Given the description of an element on the screen output the (x, y) to click on. 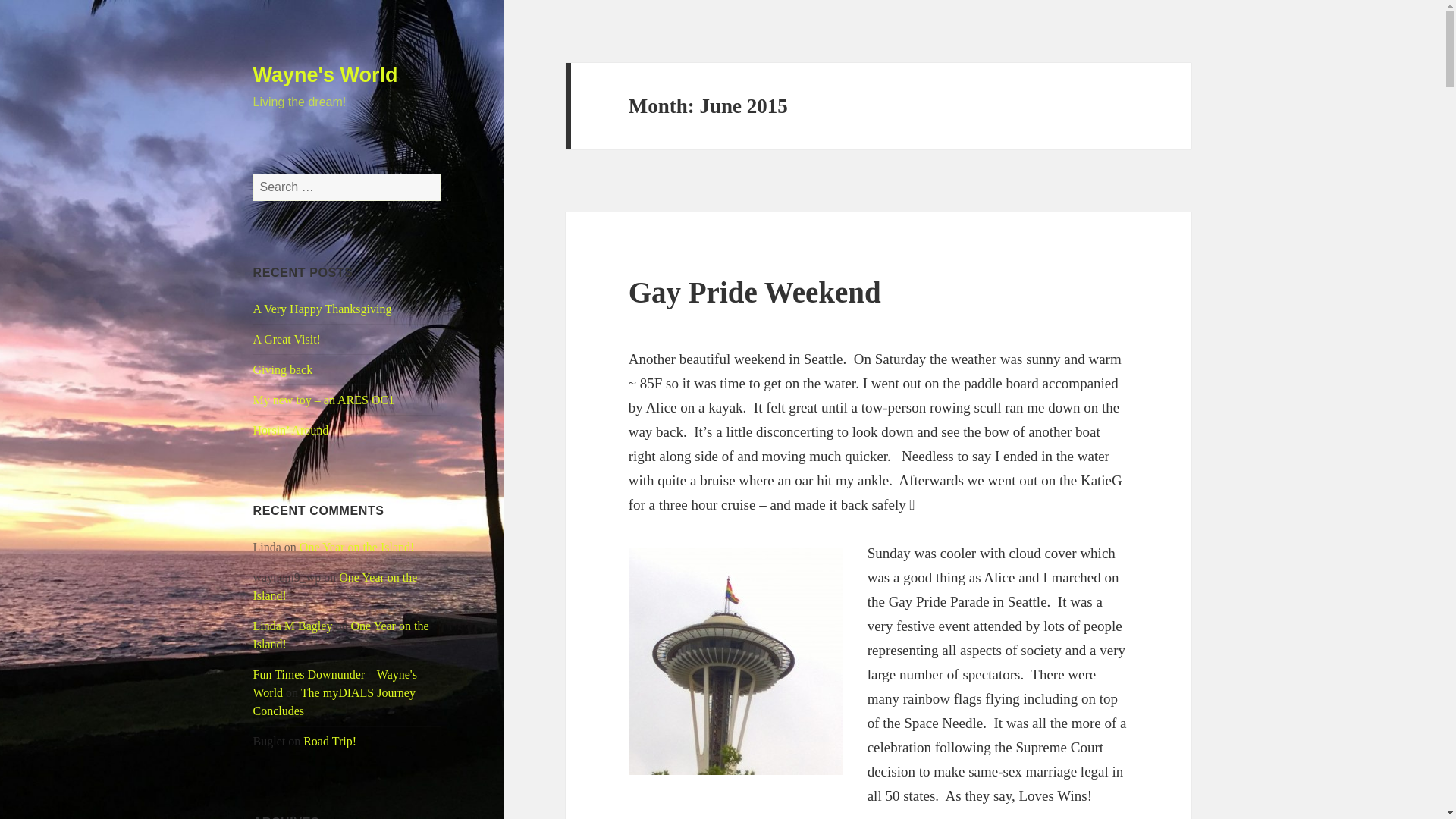
The myDIALS Journey Concludes (333, 701)
Road Trip! (329, 740)
A Great Visit! (286, 338)
Giving back (283, 369)
A Very Happy Thanksgiving (322, 308)
Wayne's World (325, 74)
Linda M Bagley (293, 625)
One Year on the Island! (335, 585)
One Year on the Island! (341, 634)
One Year on the Island! (356, 546)
